Given the description of an element on the screen output the (x, y) to click on. 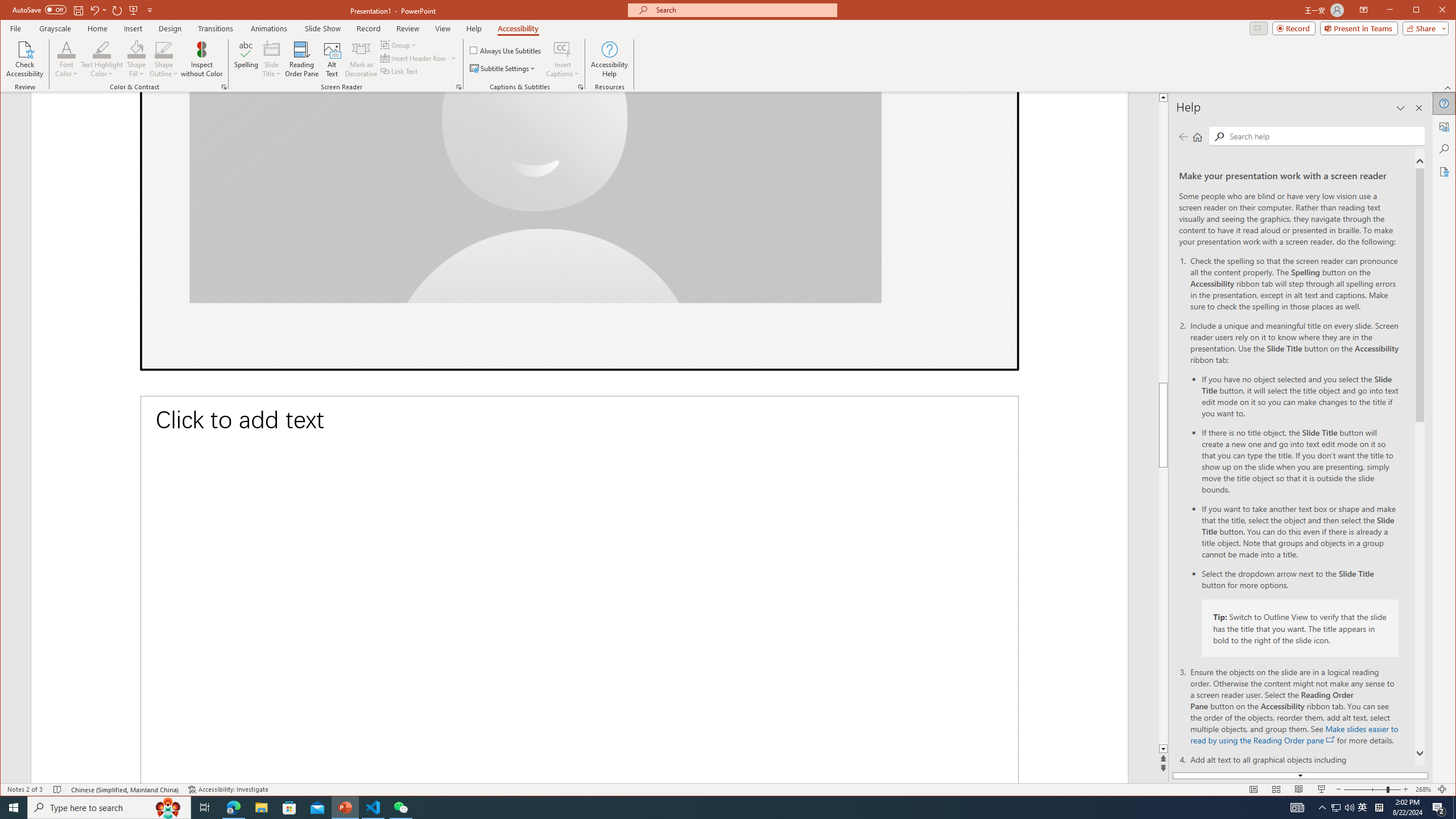
Subtitle Settings (502, 68)
